Given the description of an element on the screen output the (x, y) to click on. 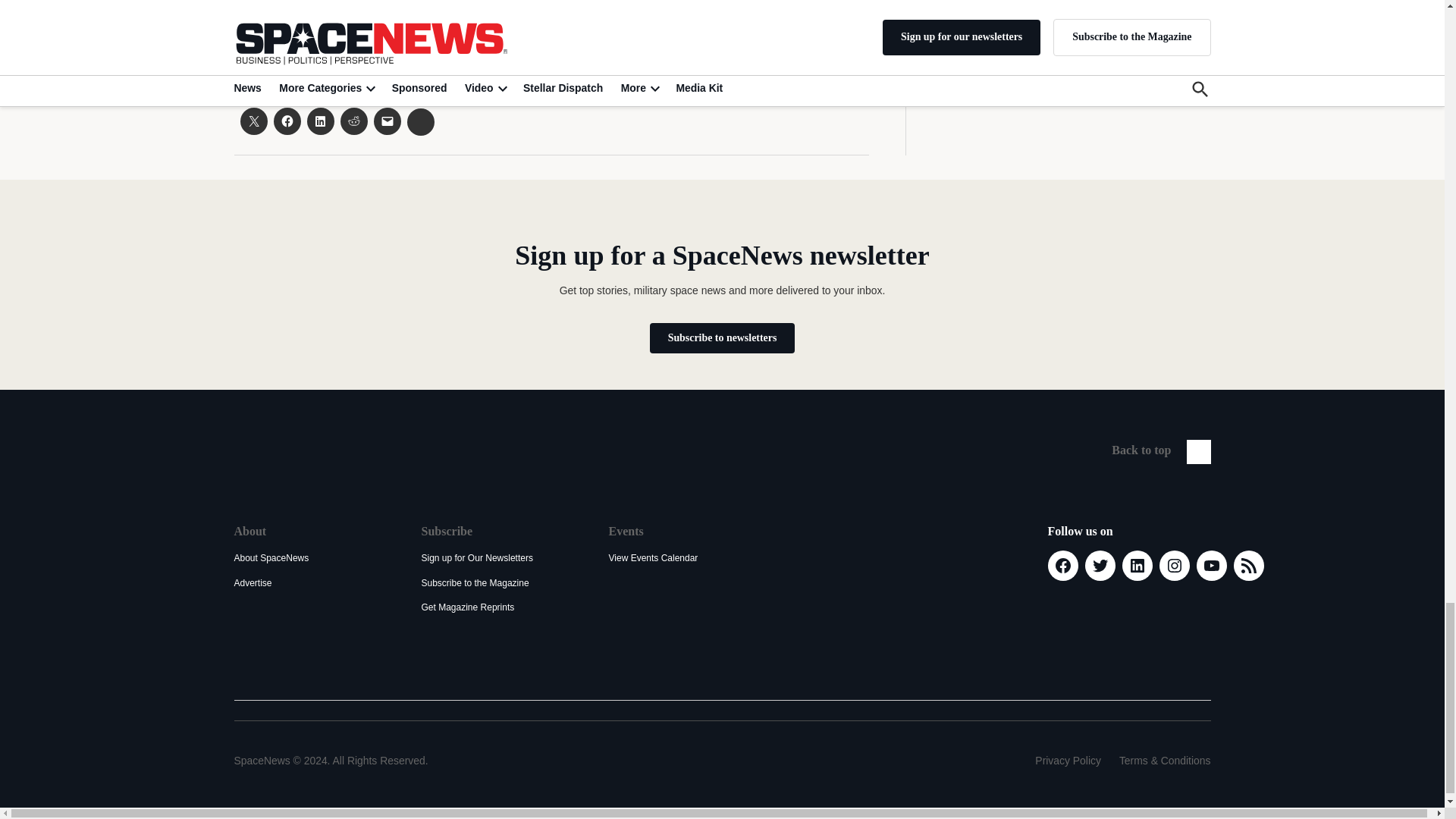
Click to email a link to a friend (386, 121)
Click to share on Reddit (352, 121)
Click to share on LinkedIn (319, 121)
Click to share on Facebook (286, 121)
Click to share on Clipboard (419, 121)
Click to share on X (253, 121)
